Given the description of an element on the screen output the (x, y) to click on. 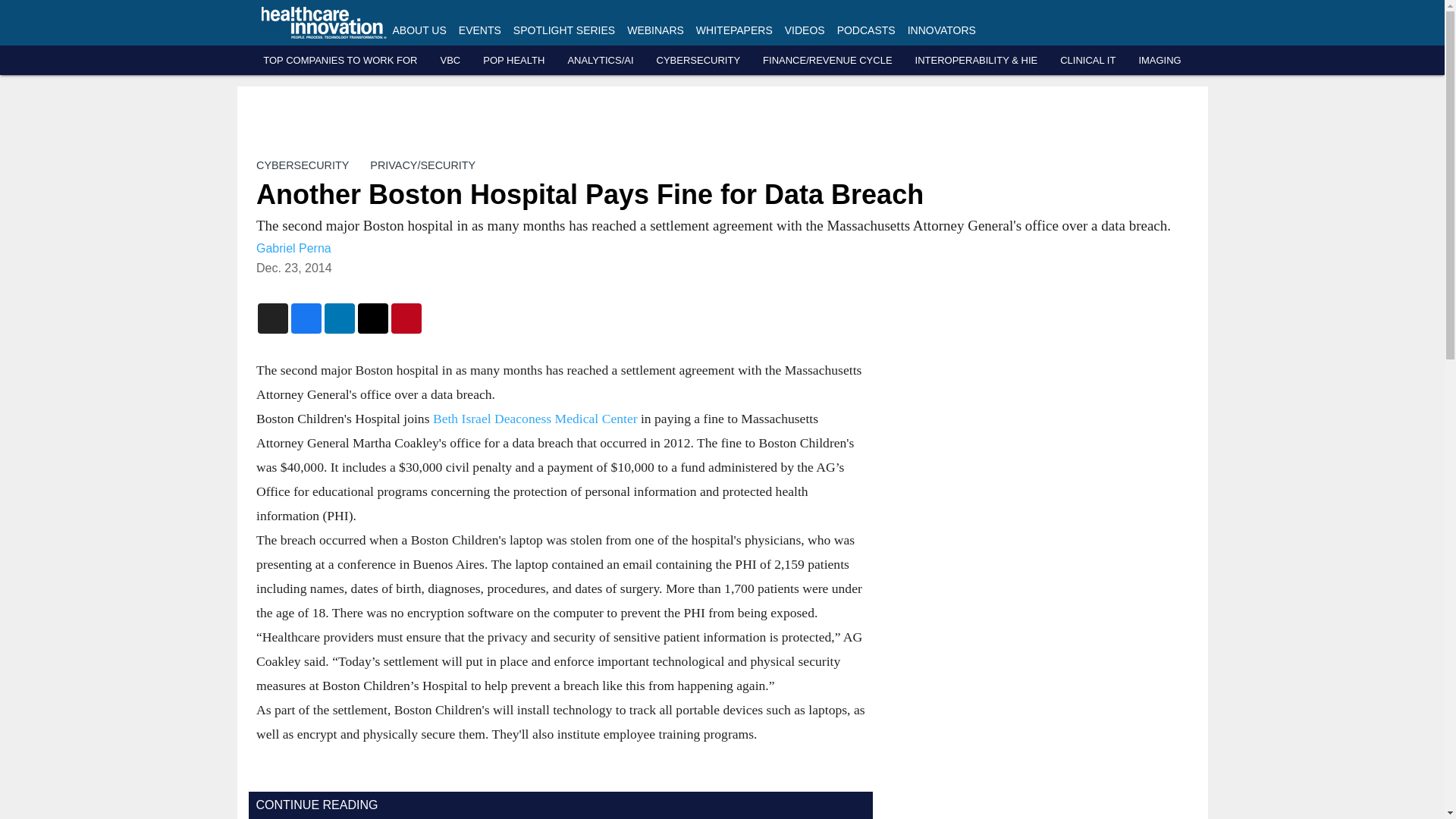
PODCASTS (866, 30)
VIDEOS (804, 30)
IMAGING (1159, 60)
CYBERSECURITY (302, 164)
CYBERSECURITY (698, 60)
POP HEALTH (513, 60)
SPOTLIGHT SERIES (563, 30)
EVENTS (479, 30)
Beth Israel Deaconess Medical Center (534, 418)
INNOVATORS (941, 30)
